Given the description of an element on the screen output the (x, y) to click on. 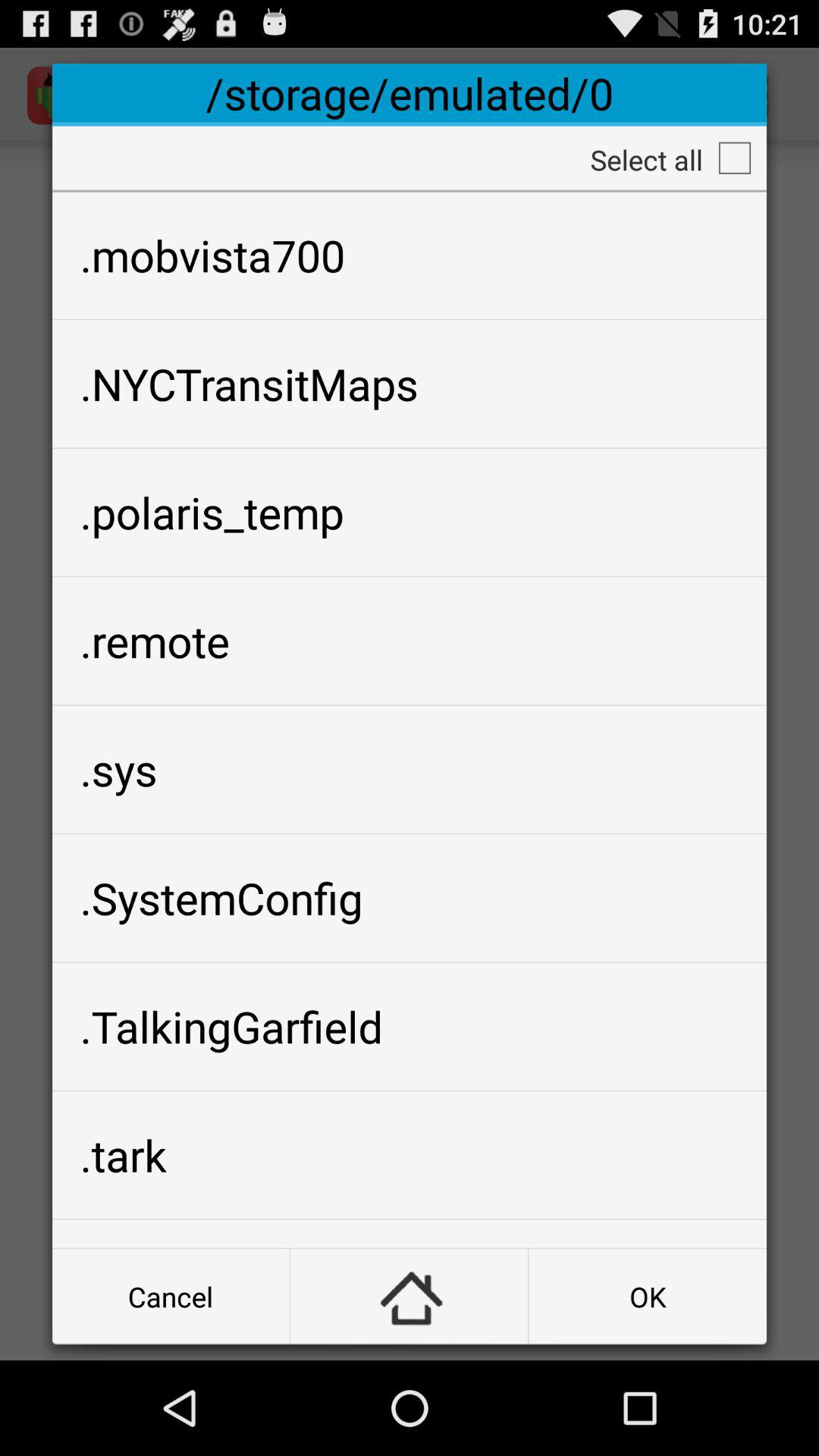
choose the icon to the left of ok button (408, 1296)
